Given the description of an element on the screen output the (x, y) to click on. 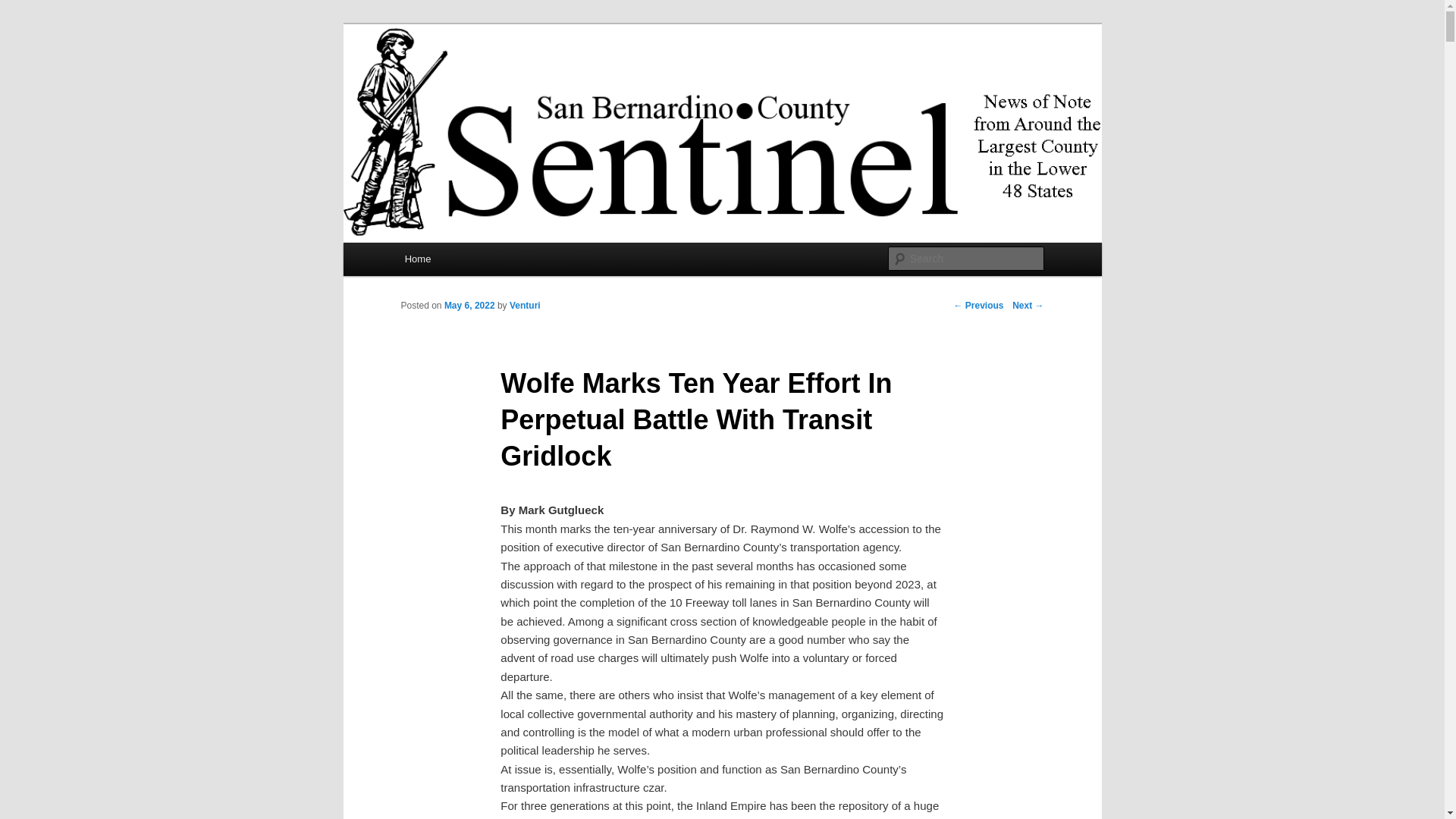
11:59 PM (469, 305)
Venturi (524, 305)
Search (24, 8)
Skip to secondary content (479, 261)
SBCSentinel (468, 78)
Skip to primary content (472, 261)
Home (417, 258)
View all posts by Venturi (524, 305)
May 6, 2022 (469, 305)
Skip to primary content (472, 261)
